Given the description of an element on the screen output the (x, y) to click on. 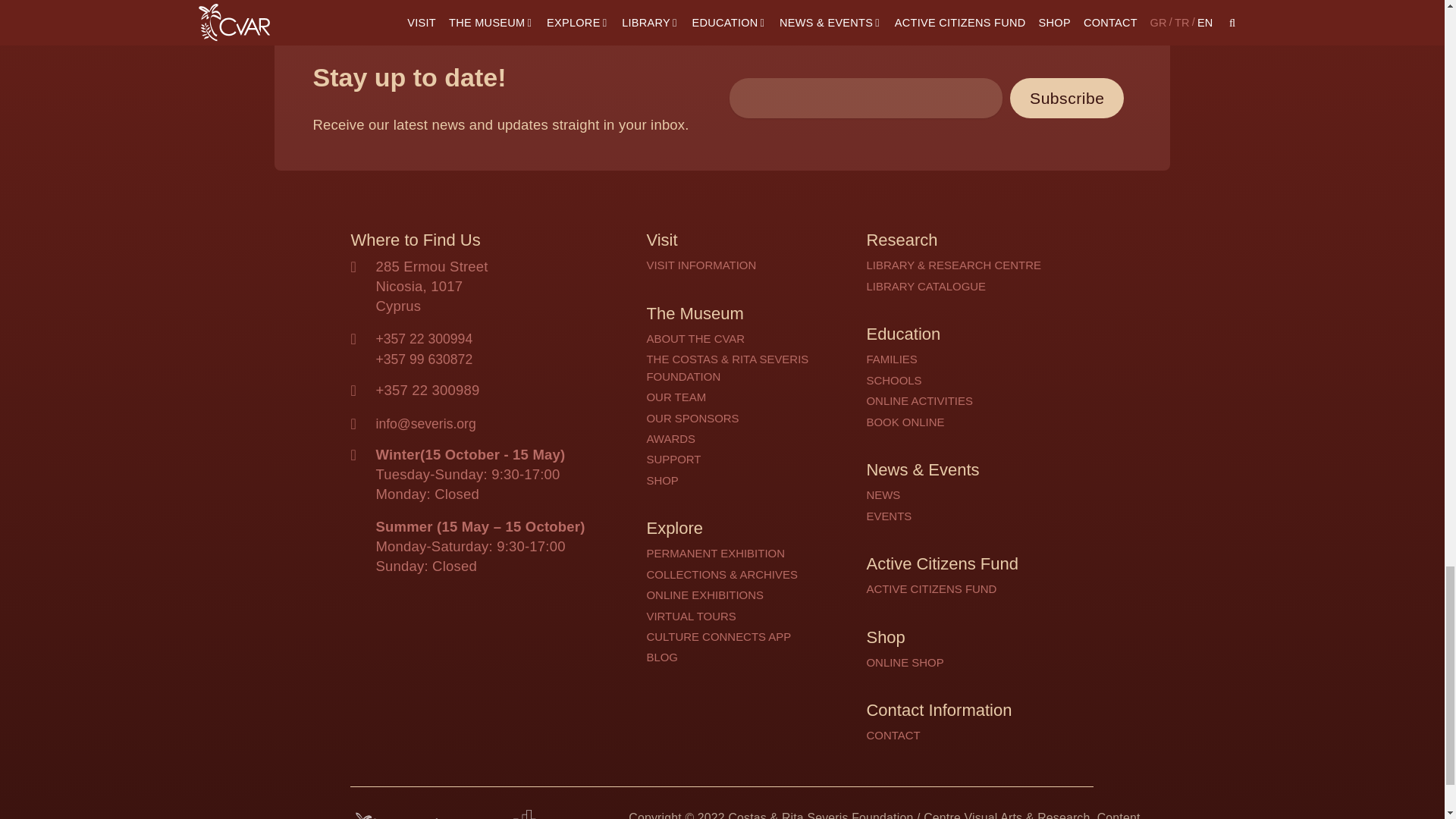
Subscribe (1067, 97)
